Given the description of an element on the screen output the (x, y) to click on. 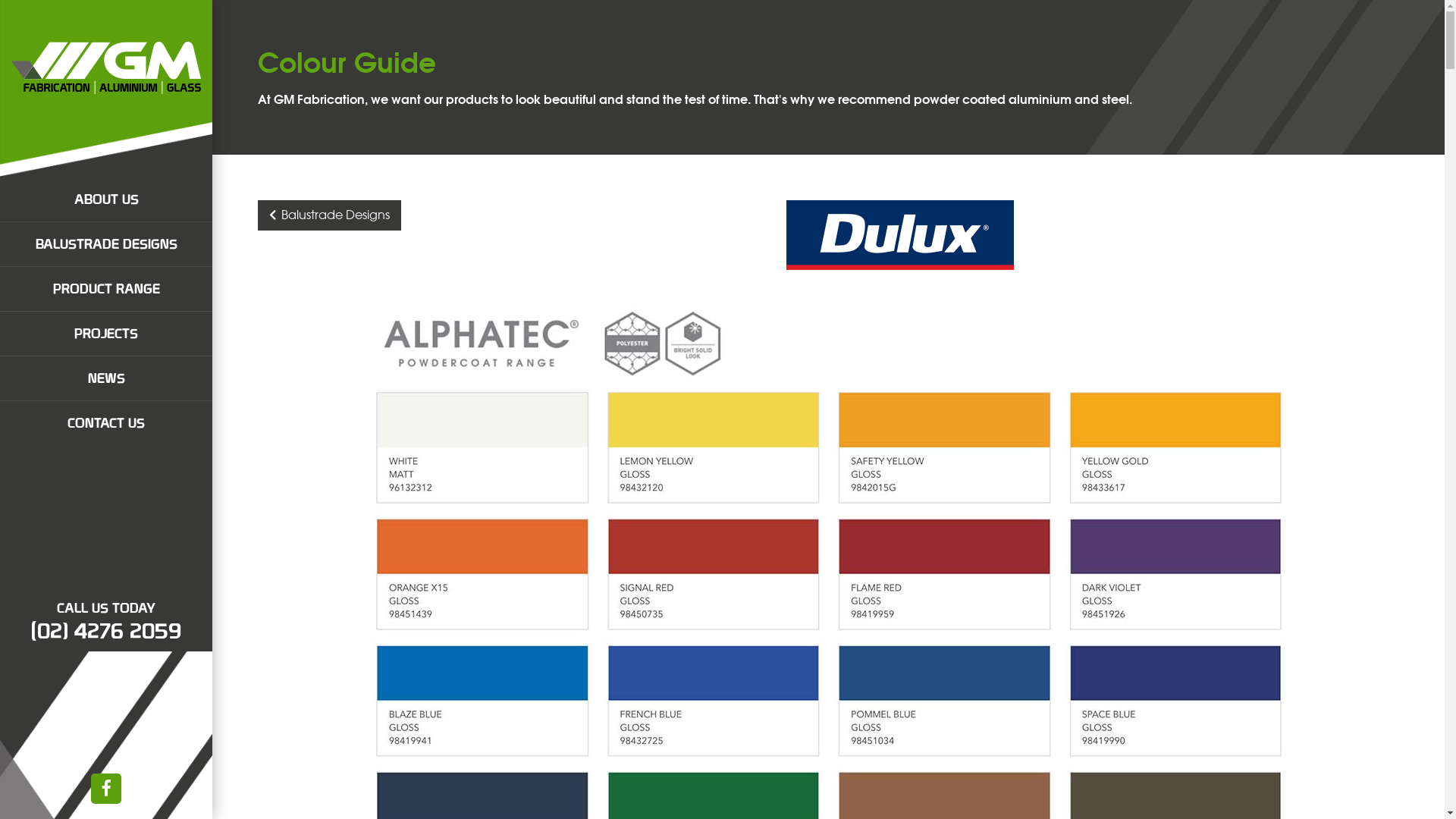
ABOUT US Element type: text (106, 199)
BALUSTRADE DESIGNS Element type: text (106, 244)
PRODUCT RANGE Element type: text (106, 288)
CONTACT US Element type: text (106, 423)
NEWS Element type: text (106, 378)
PROJECTS Element type: text (106, 333)
Balustrade Designs Element type: text (329, 215)
CALL US TODAY
(02) 4276 2059 Element type: text (106, 621)
